Given the description of an element on the screen output the (x, y) to click on. 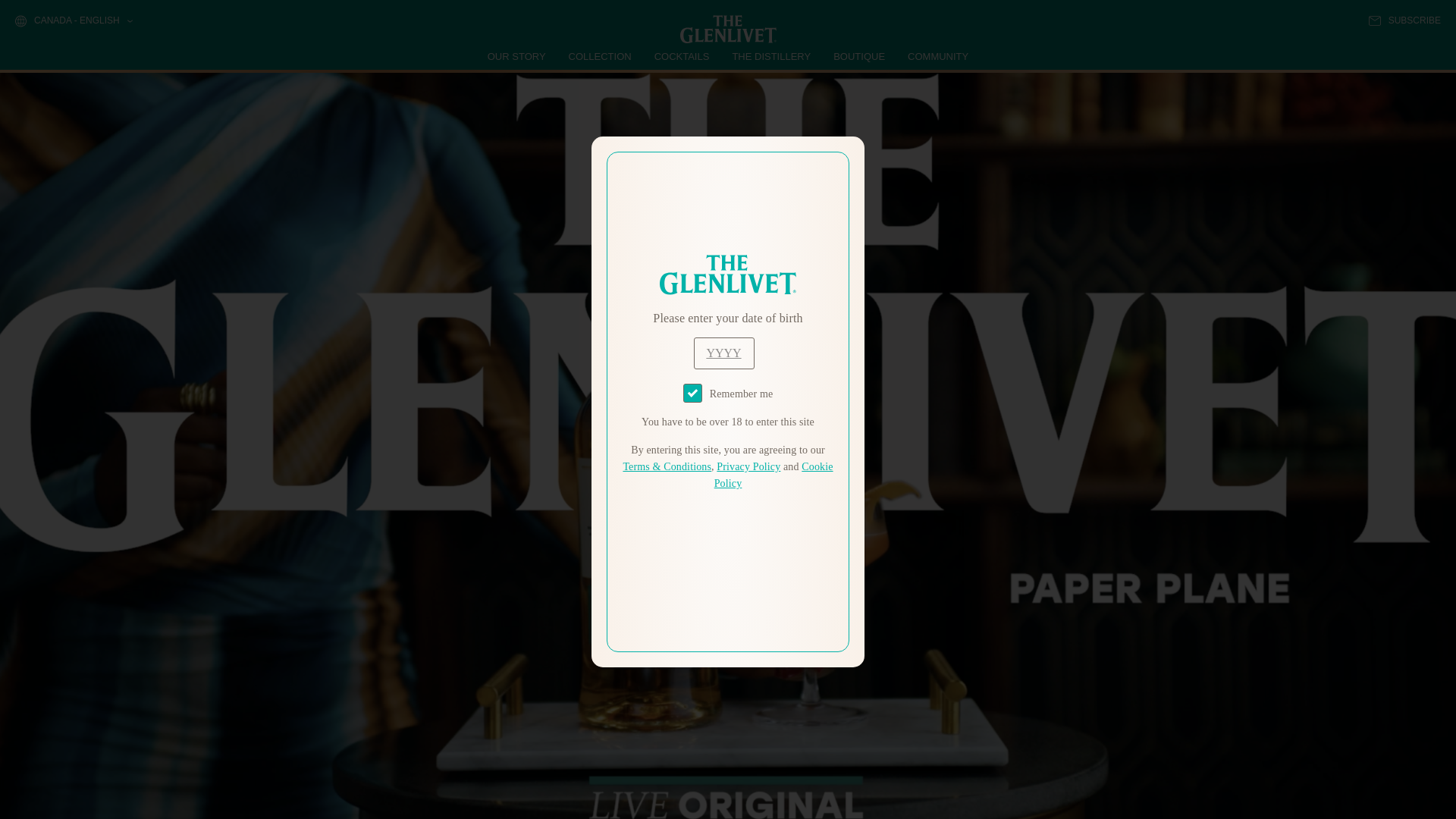
CANADA - ENGLISH (73, 21)
SUBSCRIBE (1404, 20)
Privacy Policy (748, 466)
COMMUNITY (937, 56)
THE DISTILLERY (771, 56)
Cookie Policy (773, 474)
COLLECTION (600, 56)
year (723, 353)
COCKTAILS (681, 56)
BOUTIQUE (858, 56)
